Given the description of an element on the screen output the (x, y) to click on. 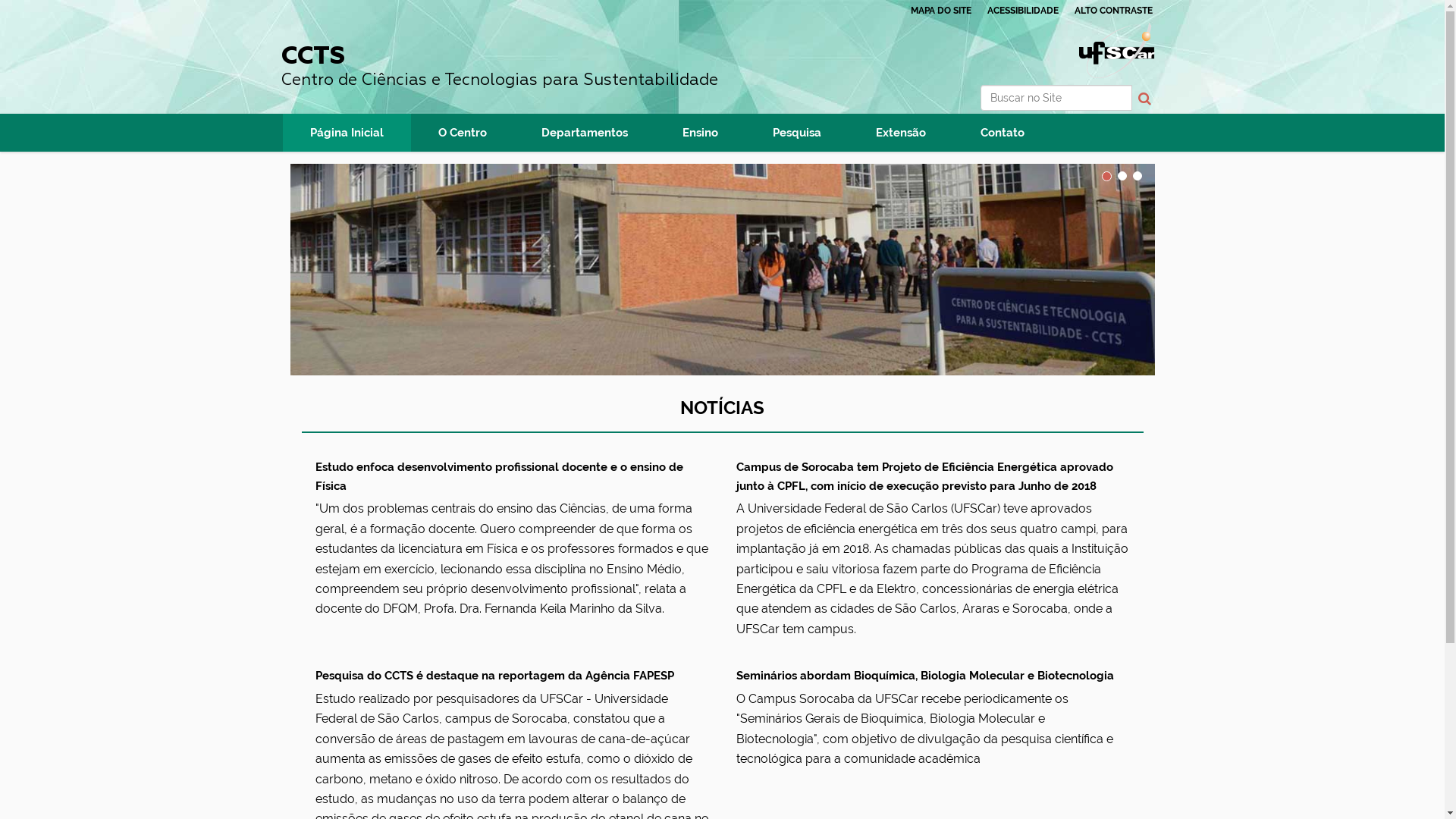
Buscar no Site Element type: hover (1055, 97)
Pesquisa Element type: text (795, 132)
Ensino Element type: text (700, 132)
CCTS Element type: hover (721, 269)
O Centro Element type: text (462, 132)
Departamentos Element type: text (584, 132)
ACESSIBILIDADE Element type: text (1022, 10)
MAPA DO SITE Element type: text (940, 10)
Portal UFSCar Element type: hover (1116, 48)
ALTO CONTRASTE Element type: text (1112, 10)
Contato Element type: text (1001, 132)
